Given the description of an element on the screen output the (x, y) to click on. 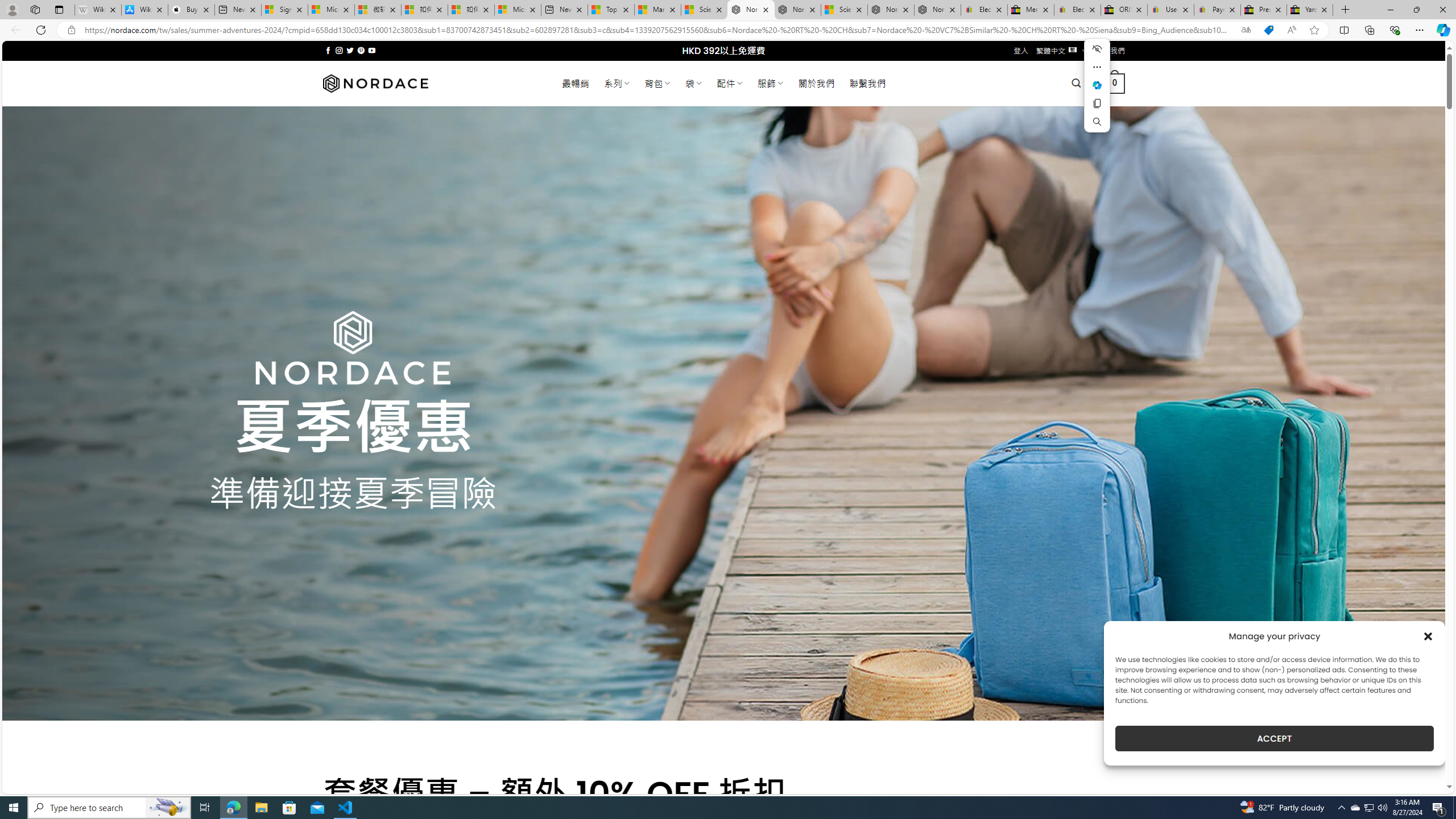
  0   (1115, 83)
Follow on Instagram (338, 50)
Buy iPad - Apple (191, 9)
Mini menu on text selection (1096, 91)
